Given the description of an element on the screen output the (x, y) to click on. 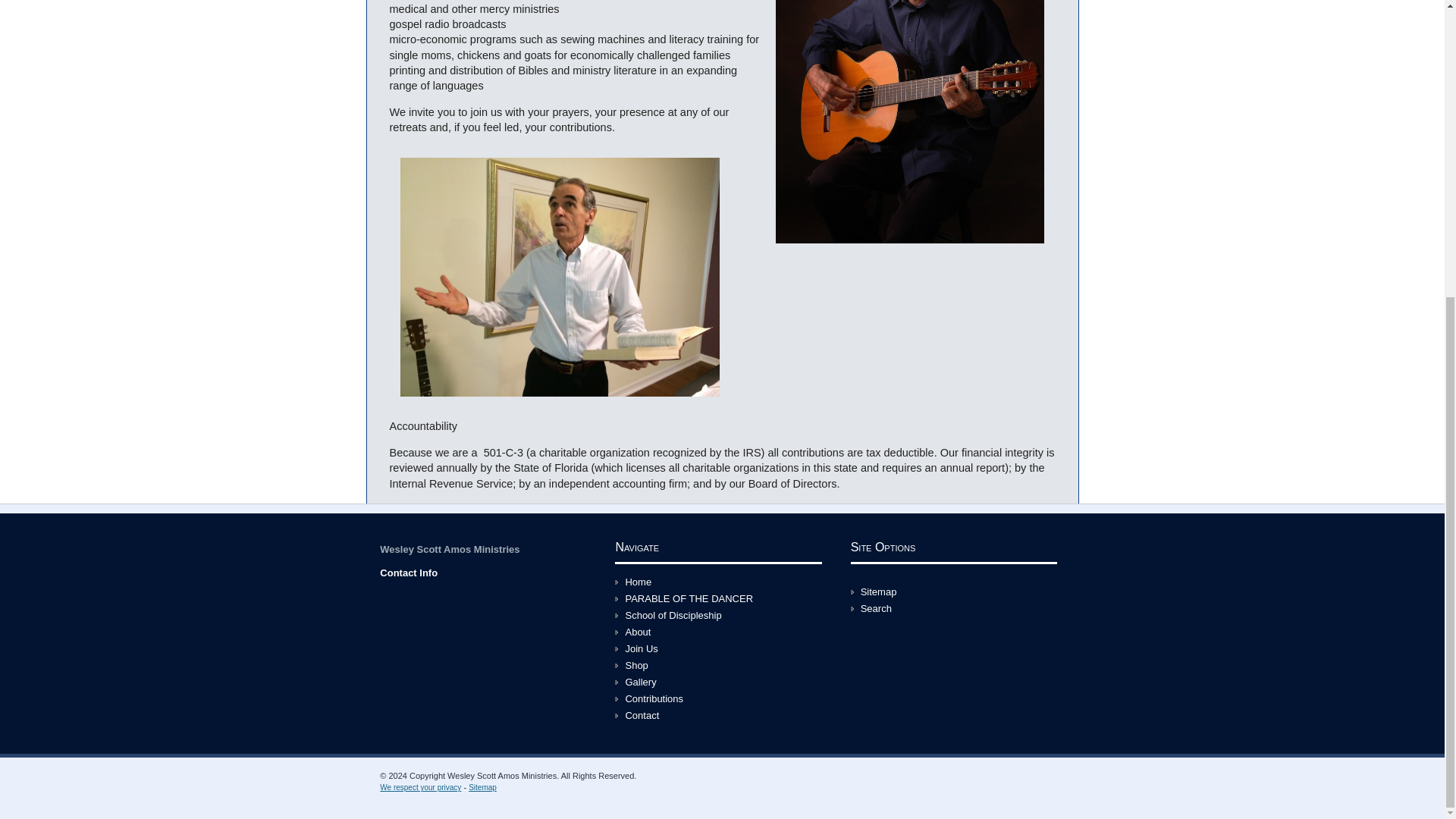
Sitemap (878, 592)
Search (875, 608)
